Given the description of an element on the screen output the (x, y) to click on. 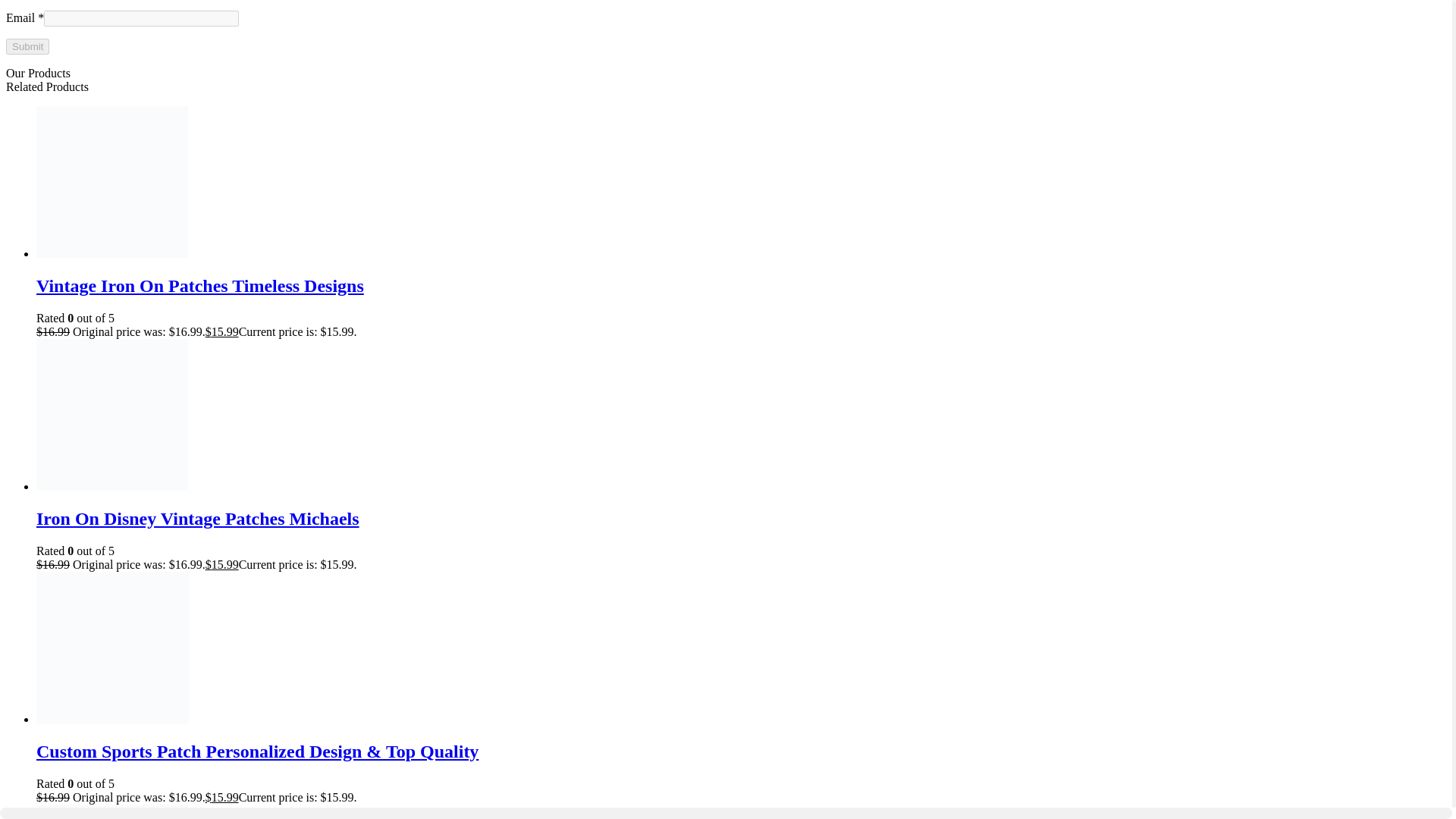
Submit (27, 46)
Vintage Iron On Patches Timeless Designs (740, 286)
Submit (27, 46)
